Given the description of an element on the screen output the (x, y) to click on. 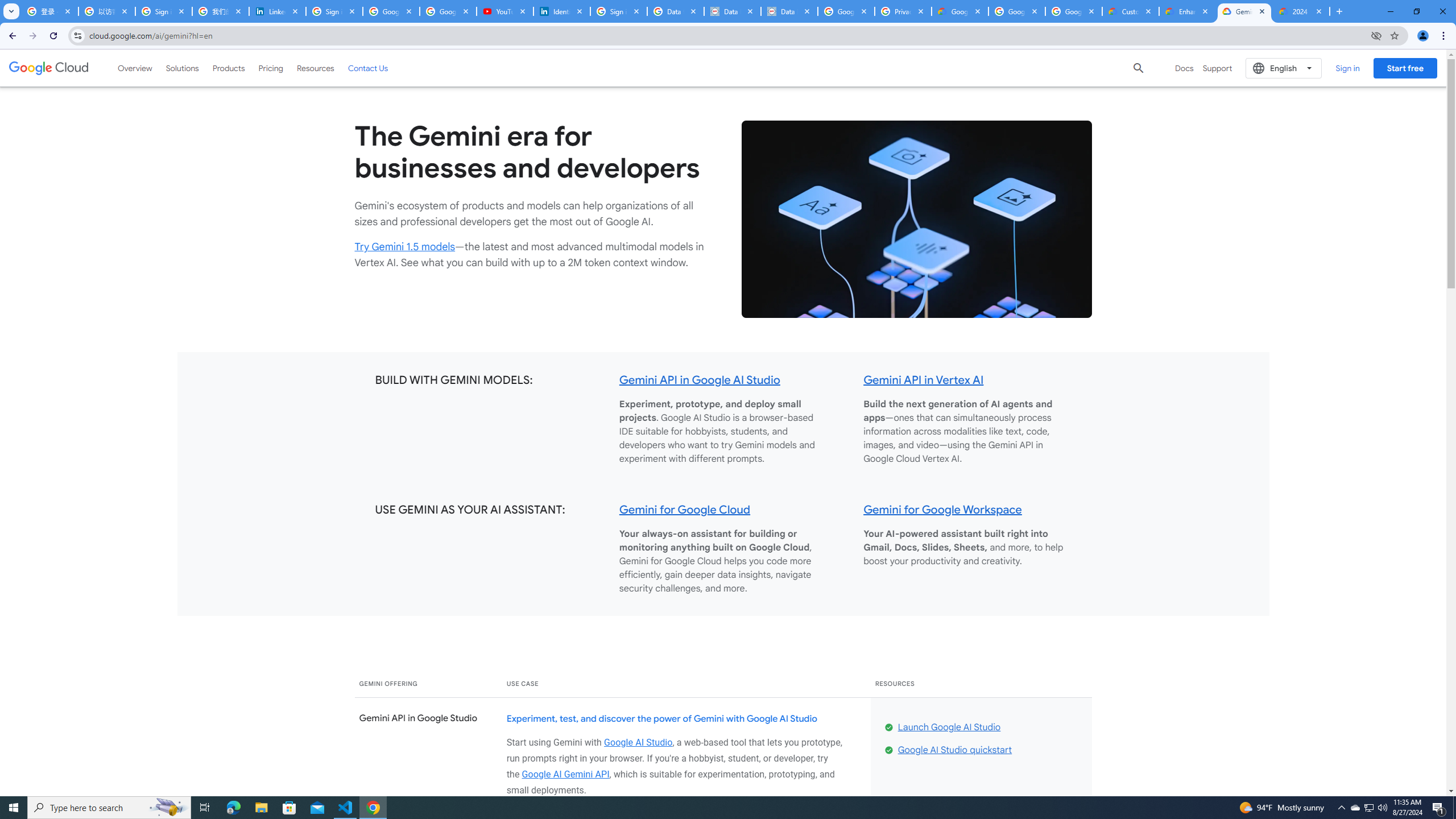
Resources (314, 67)
Google AI Gemini API (565, 773)
Sign in - Google Accounts (334, 11)
Google Cloud Terms Directory | Google Cloud (959, 11)
Contact Us (368, 67)
Start free (1405, 67)
Google Cloud (48, 67)
Sign in - Google Accounts (163, 11)
